Given the description of an element on the screen output the (x, y) to click on. 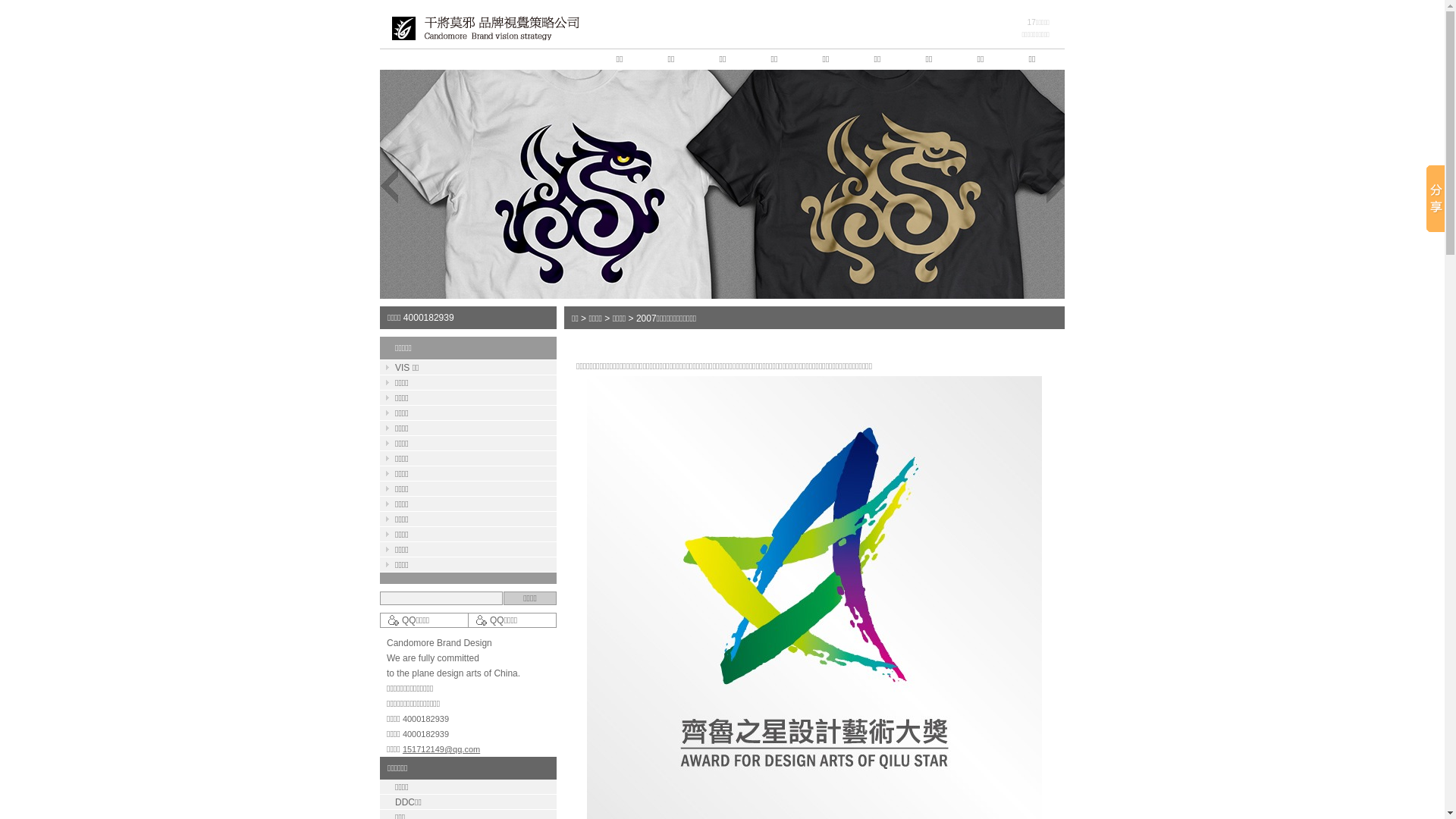
151712149@qq.com Element type: text (441, 748)
